Given the description of an element on the screen output the (x, y) to click on. 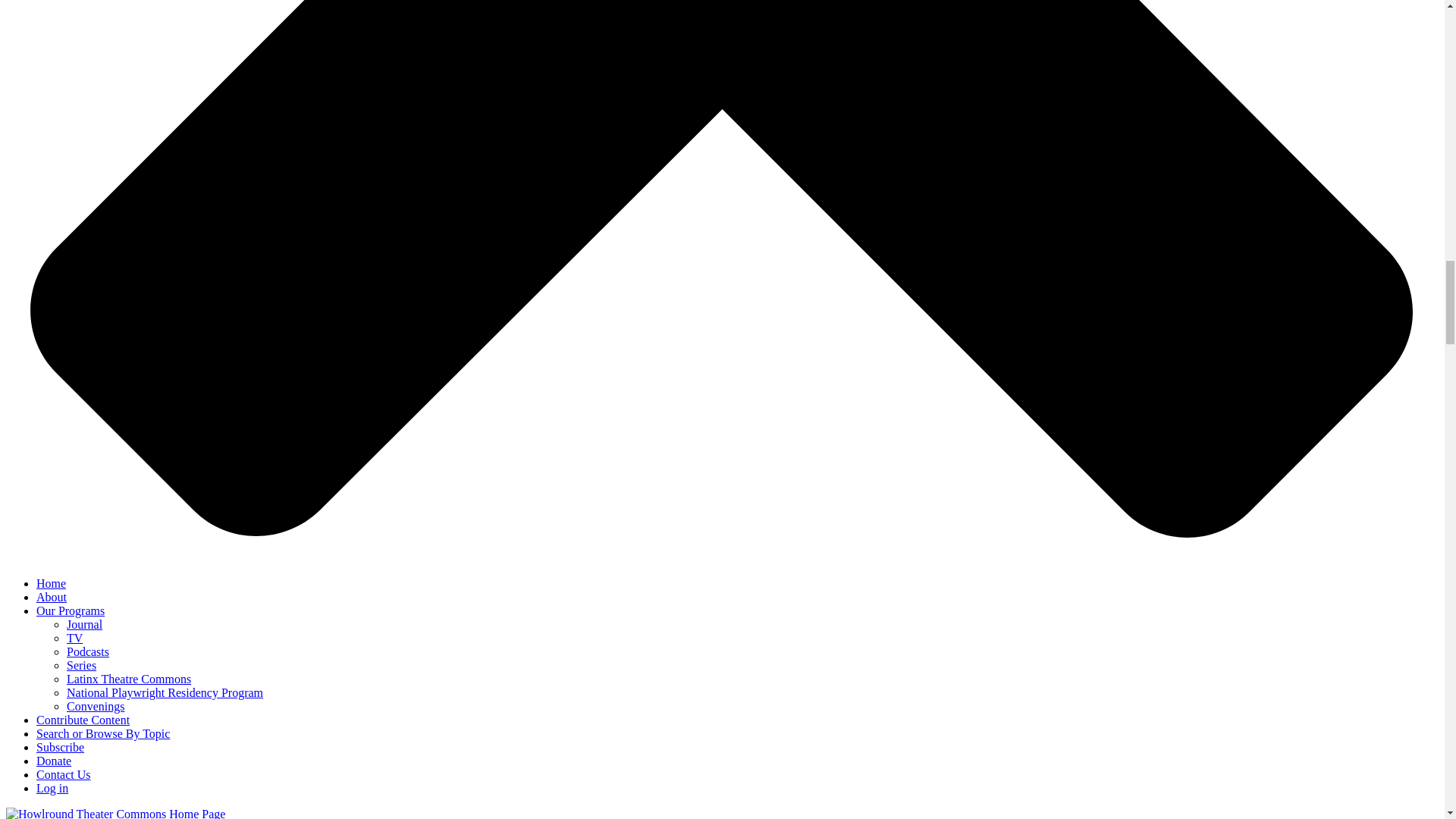
About (51, 596)
Our Programs (70, 610)
Journal (83, 624)
Series (81, 665)
Contact Us (63, 774)
Home (50, 583)
Contribute Content (82, 719)
Search or Browse By Topic (103, 733)
TV (74, 637)
Log in (52, 788)
